Given the description of an element on the screen output the (x, y) to click on. 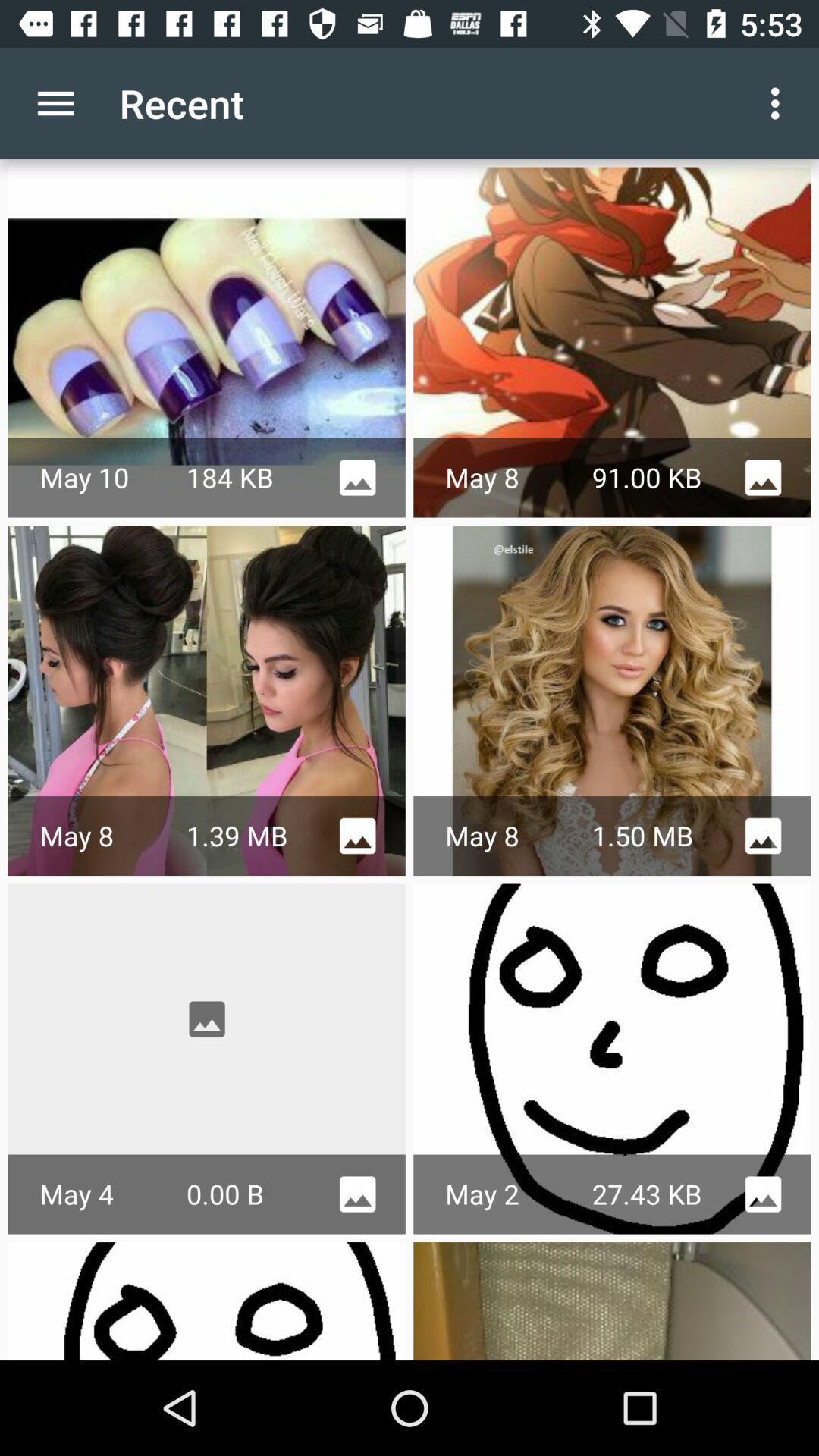
choose icon to the right of recent (779, 103)
